Given the description of an element on the screen output the (x, y) to click on. 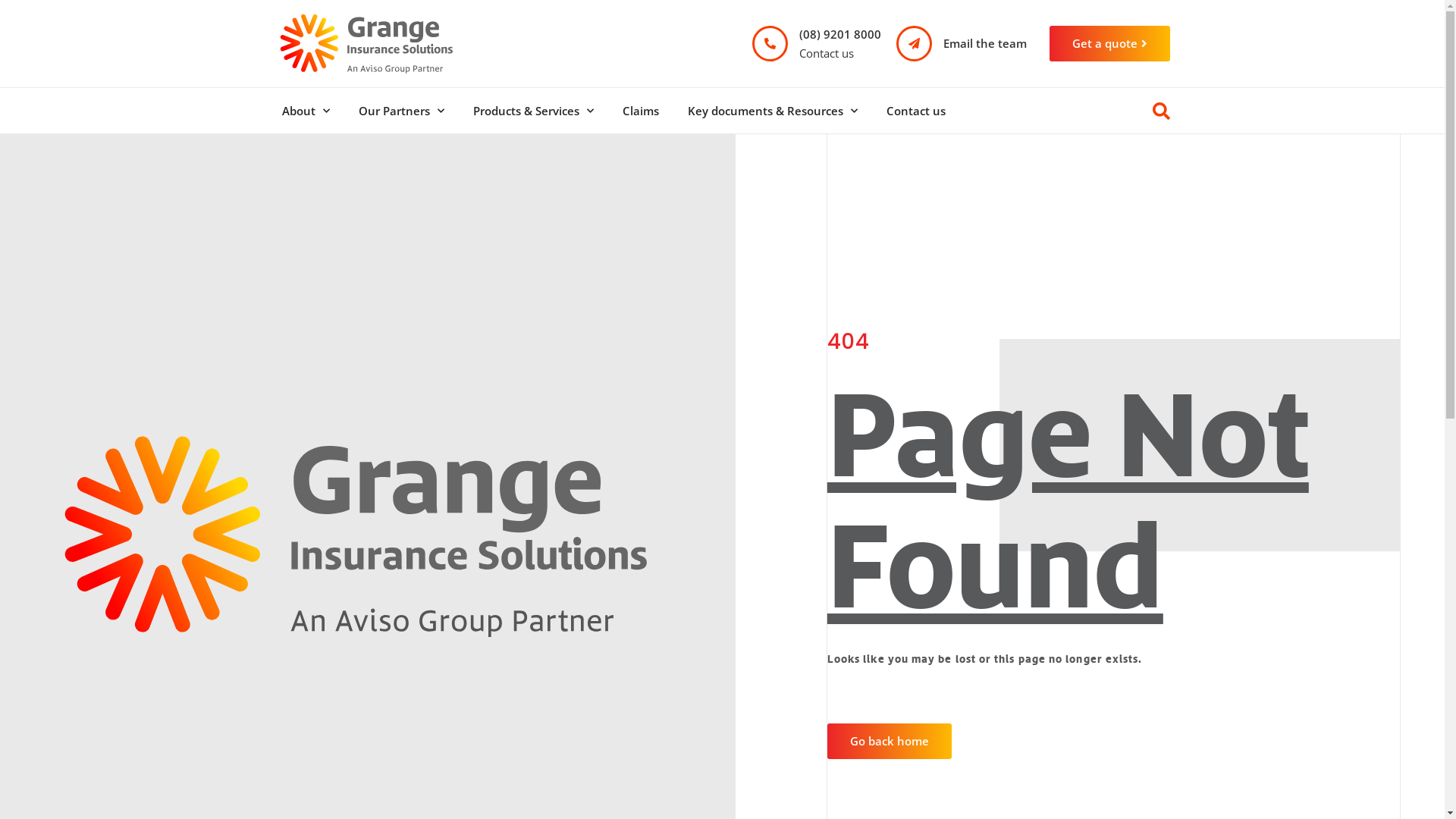
About Element type: text (304, 110)
Email the team Element type: text (984, 42)
Key documents & Resources Element type: text (772, 110)
Products & Services Element type: text (532, 110)
Get a quote Element type: text (1109, 43)
(08) 9201 8000 Element type: text (840, 33)
Contact us Element type: text (916, 110)
Our Partners Element type: text (401, 110)
Go back home Element type: text (889, 741)
Claims Element type: text (640, 110)
